Given the description of an element on the screen output the (x, y) to click on. 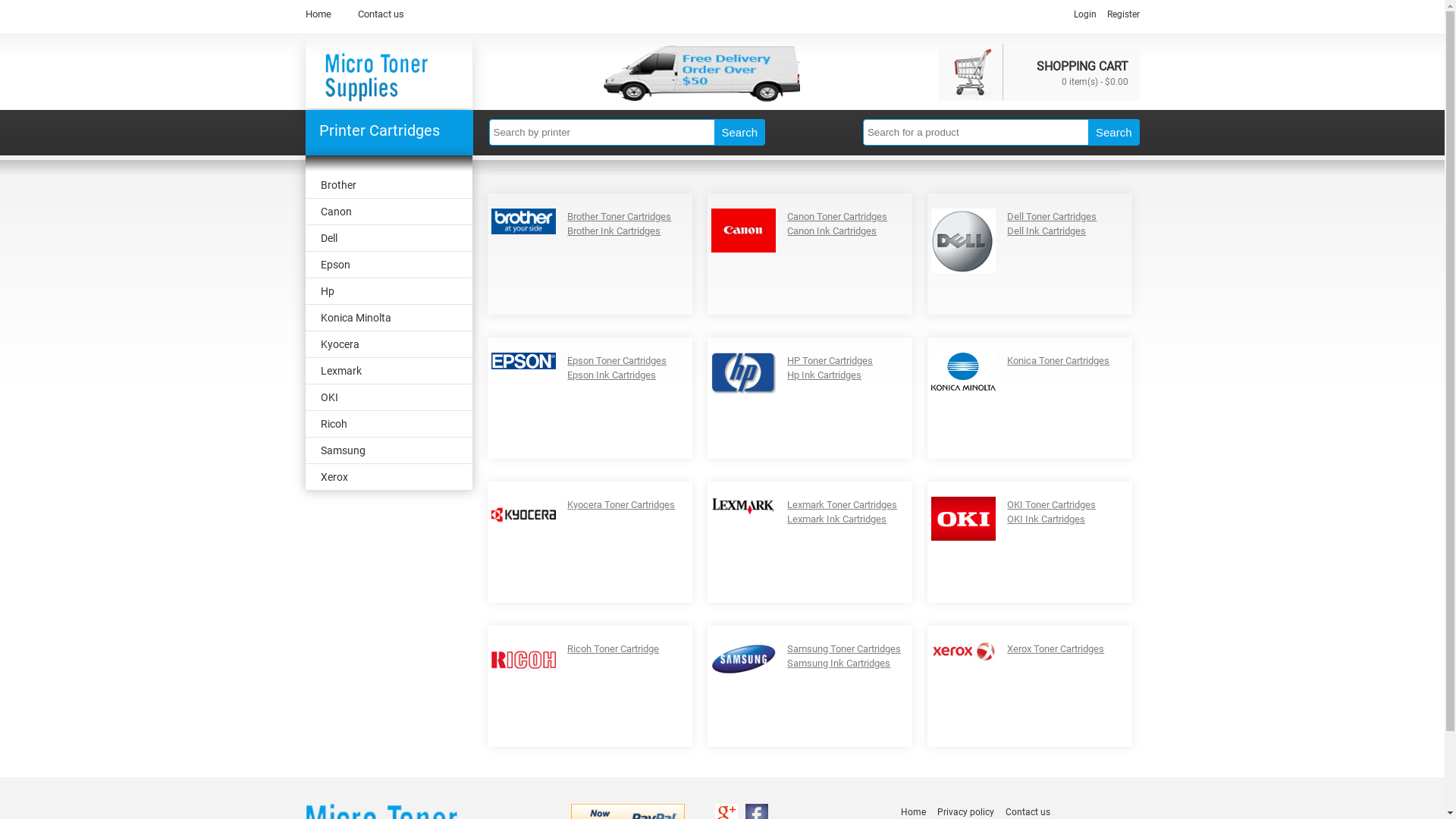
Epson Ink Cartridges Element type: text (611, 374)
Dell Ink Cartridges Element type: text (1046, 230)
Konica Minolta Element type: text (387, 317)
Lexmark Element type: text (387, 370)
Hp Element type: text (387, 291)
Kyocera Toner Cartridges Element type: text (620, 504)
Dell Toner Cartridges Element type: text (1051, 216)
Brother Element type: text (387, 185)
0 item(s) - $0.00 Element type: text (1094, 80)
Canon Element type: text (387, 211)
Ricoh Toner Cartridge Element type: text (612, 648)
Ricoh Element type: text (387, 424)
Brother Ink Cartridges Element type: text (613, 230)
Contact us Element type: text (1027, 811)
Konica Toner Cartridges Element type: text (1058, 360)
Home Element type: text (912, 811)
Register Element type: text (1123, 14)
Dell Element type: text (387, 238)
Canon Ink Cartridges Element type: text (831, 230)
OKI Ink Cartridges Element type: text (1046, 518)
Search Element type: text (739, 132)
Contact us Element type: text (380, 13)
Xerox Toner Cartridges Element type: text (1055, 648)
Epson Element type: text (387, 264)
Search Element type: text (1113, 132)
HP Toner Cartridges Element type: text (829, 360)
Epson Toner Cartridges Element type: text (616, 360)
Login Element type: text (1084, 14)
Lexmark Toner Cartridges Element type: text (842, 504)
Samsung Element type: text (387, 450)
Privacy policy Element type: text (965, 811)
OKI Toner Cartridges Element type: text (1051, 504)
Samsung Ink Cartridges Element type: text (838, 662)
Xerox Element type: text (387, 477)
Kyocera Element type: text (387, 344)
Lexmark Ink Cartridges Element type: text (836, 518)
Samsung Toner Cartridges Element type: text (843, 648)
Home Element type: text (317, 13)
OKI Element type: text (387, 397)
Brother Toner Cartridges Element type: text (619, 216)
Hp Ink Cartridges Element type: text (824, 374)
Canon Toner Cartridges Element type: text (837, 216)
